Given the description of an element on the screen output the (x, y) to click on. 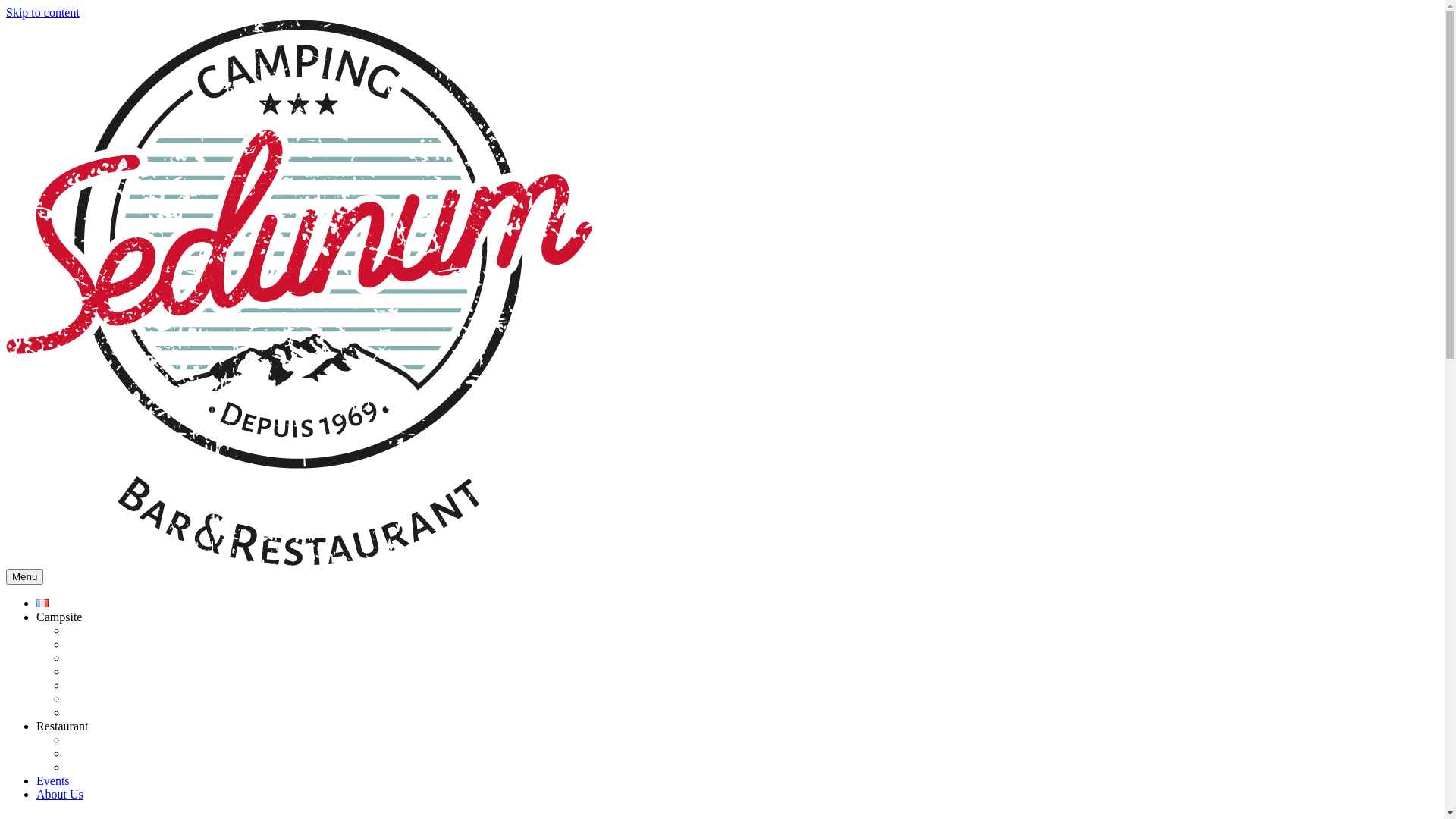
Booking Element type: text (87, 657)
Prices Element type: text (81, 643)
Campsite Element type: text (58, 616)
About Us Element type: text (59, 793)
Restaurant Element type: text (61, 725)
Events Element type: text (52, 780)
Leasure and Services Element type: text (117, 630)
Camper van rental Element type: text (111, 712)
Photo Gallery Element type: text (100, 766)
Camping Sedunum Element type: hover (299, 561)
Skip to content Element type: text (42, 12)
Information Element type: text (95, 739)
The Menu Card Element type: text (104, 752)
Photo Gallery Element type: text (100, 698)
Shed & Caravan Element type: text (106, 671)
Menu Element type: text (24, 576)
